Given the description of an element on the screen output the (x, y) to click on. 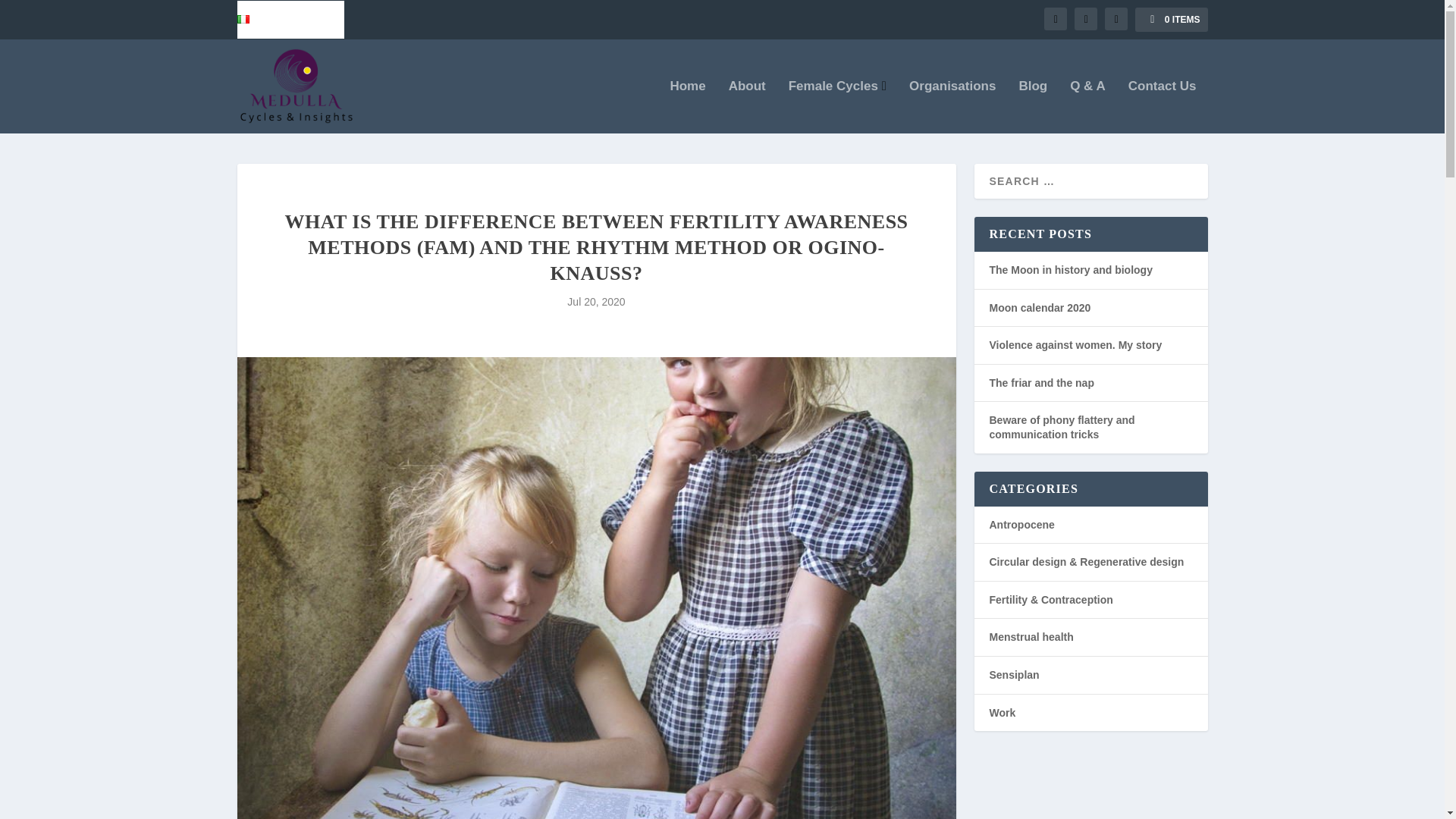
0 Items in Cart (1171, 19)
Italiano (260, 19)
Contact Us (1162, 106)
0 ITEMS (1171, 19)
Organisations (951, 106)
Female Cycles (837, 106)
